Given the description of an element on the screen output the (x, y) to click on. 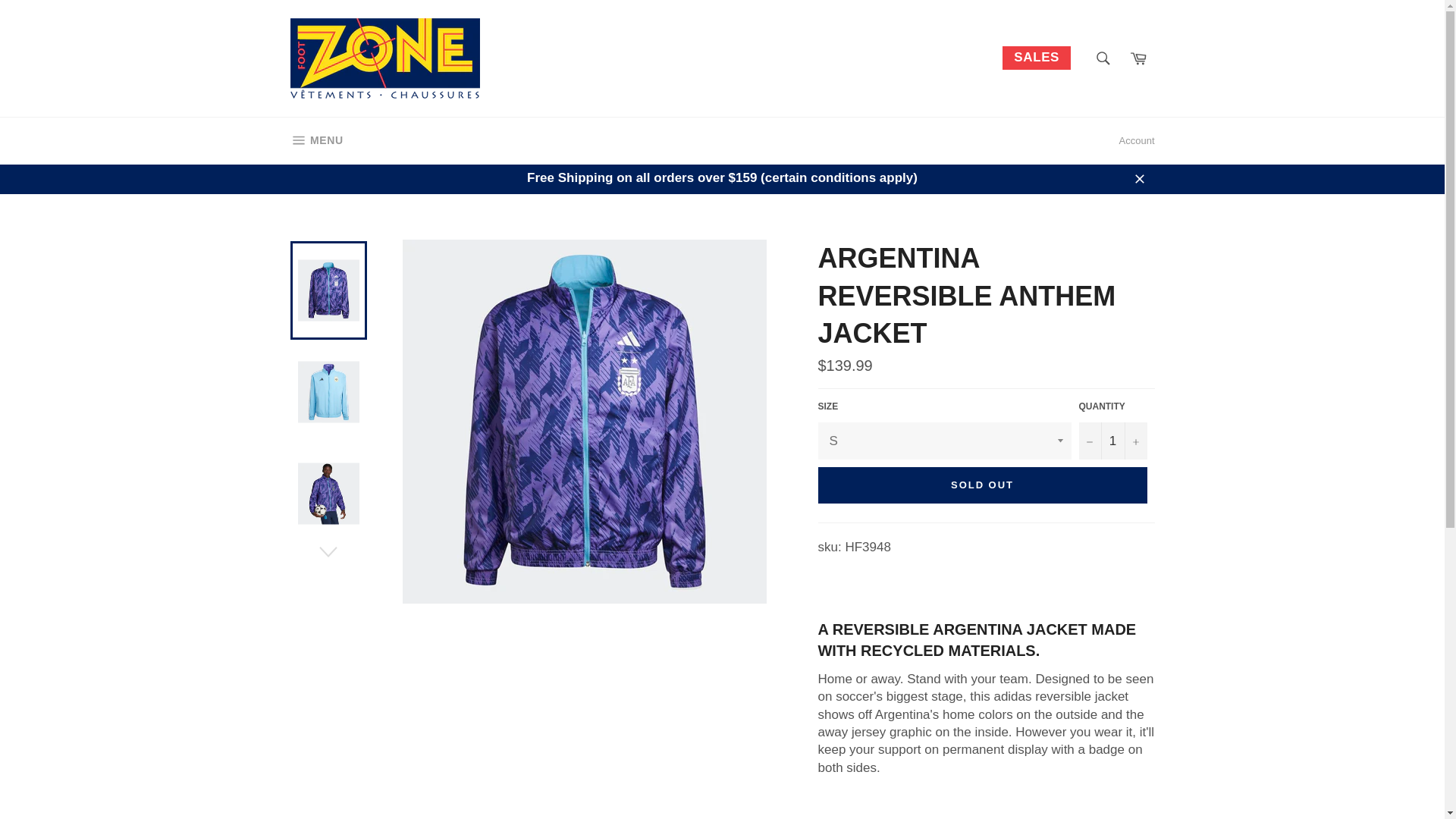
1 (1112, 440)
